Given the description of an element on the screen output the (x, y) to click on. 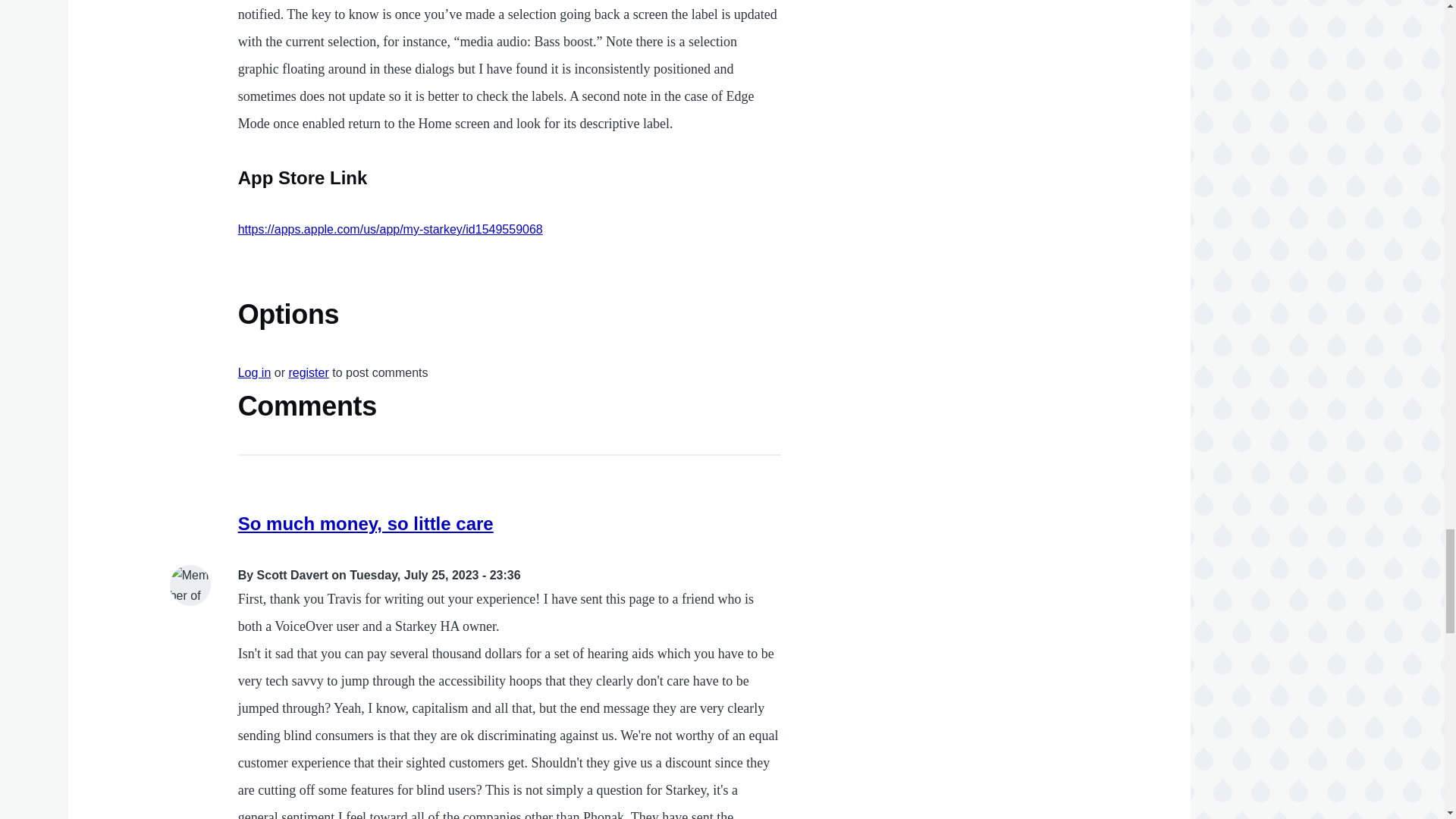
register (308, 372)
So much money, so little care (365, 523)
Log in (254, 372)
